Given the description of an element on the screen output the (x, y) to click on. 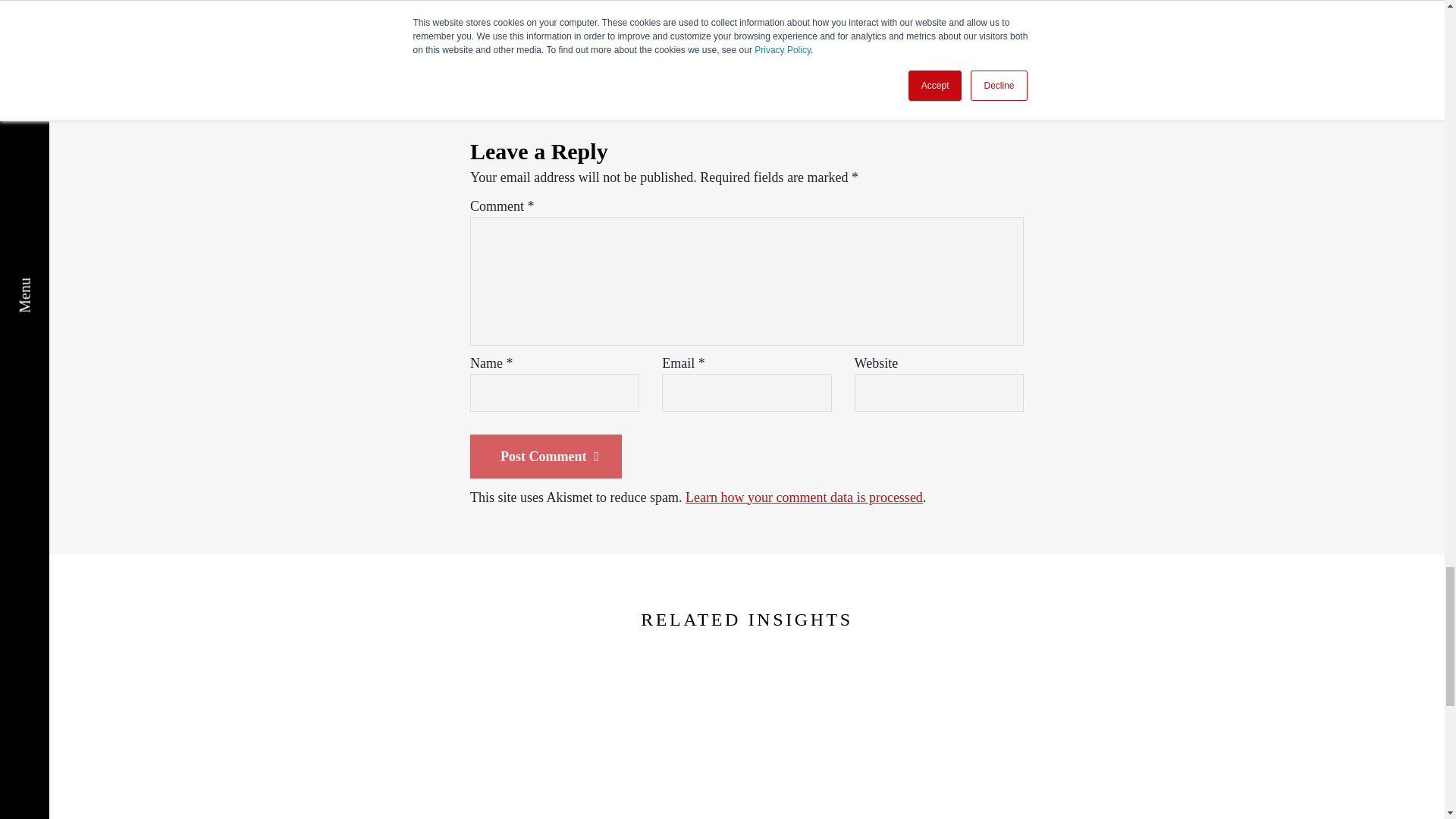
January 10, 2018 at 3:30 pm (670, 34)
